Given the description of an element on the screen output the (x, y) to click on. 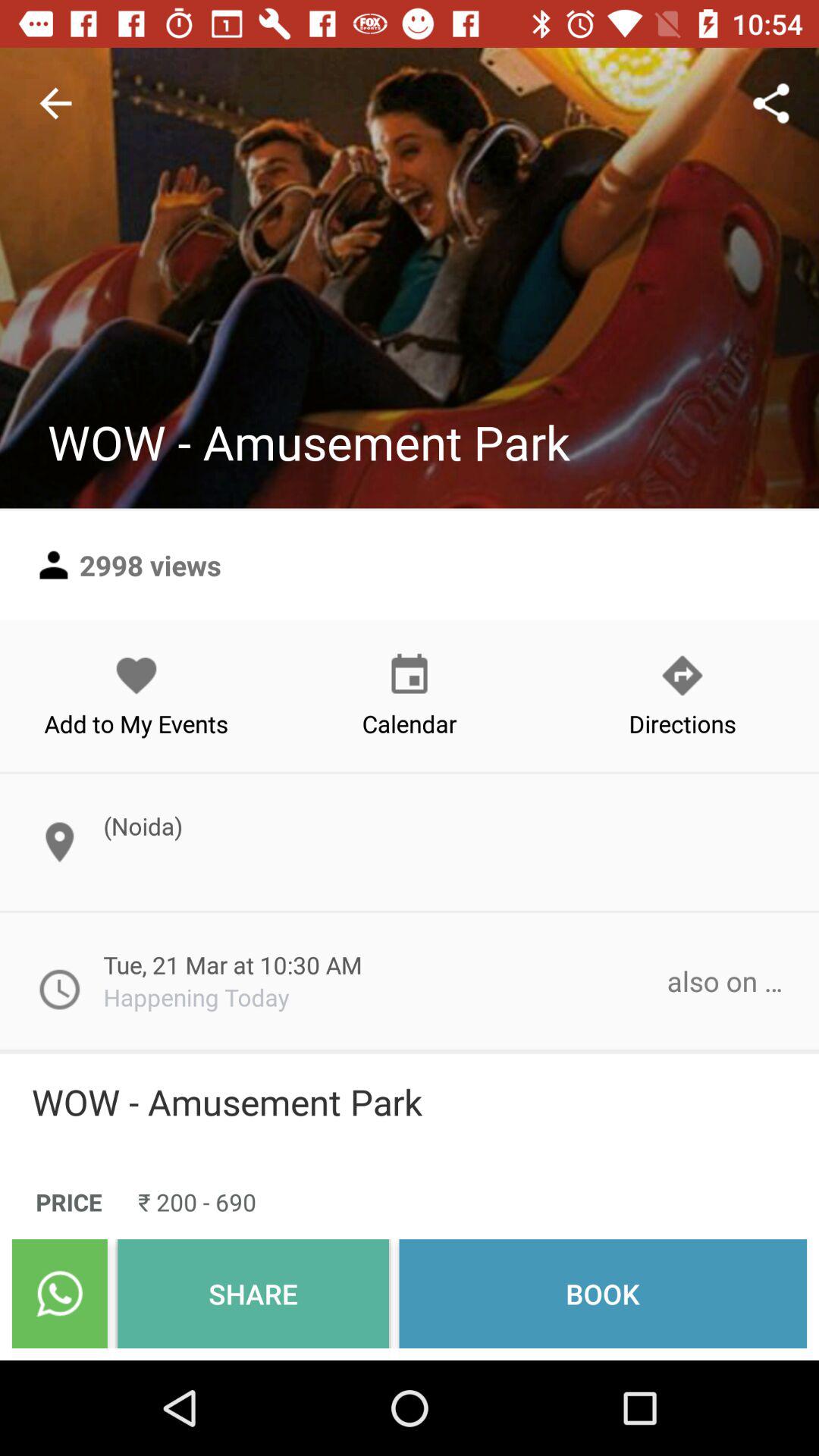
select add to my icon (136, 695)
